Given the description of an element on the screen output the (x, y) to click on. 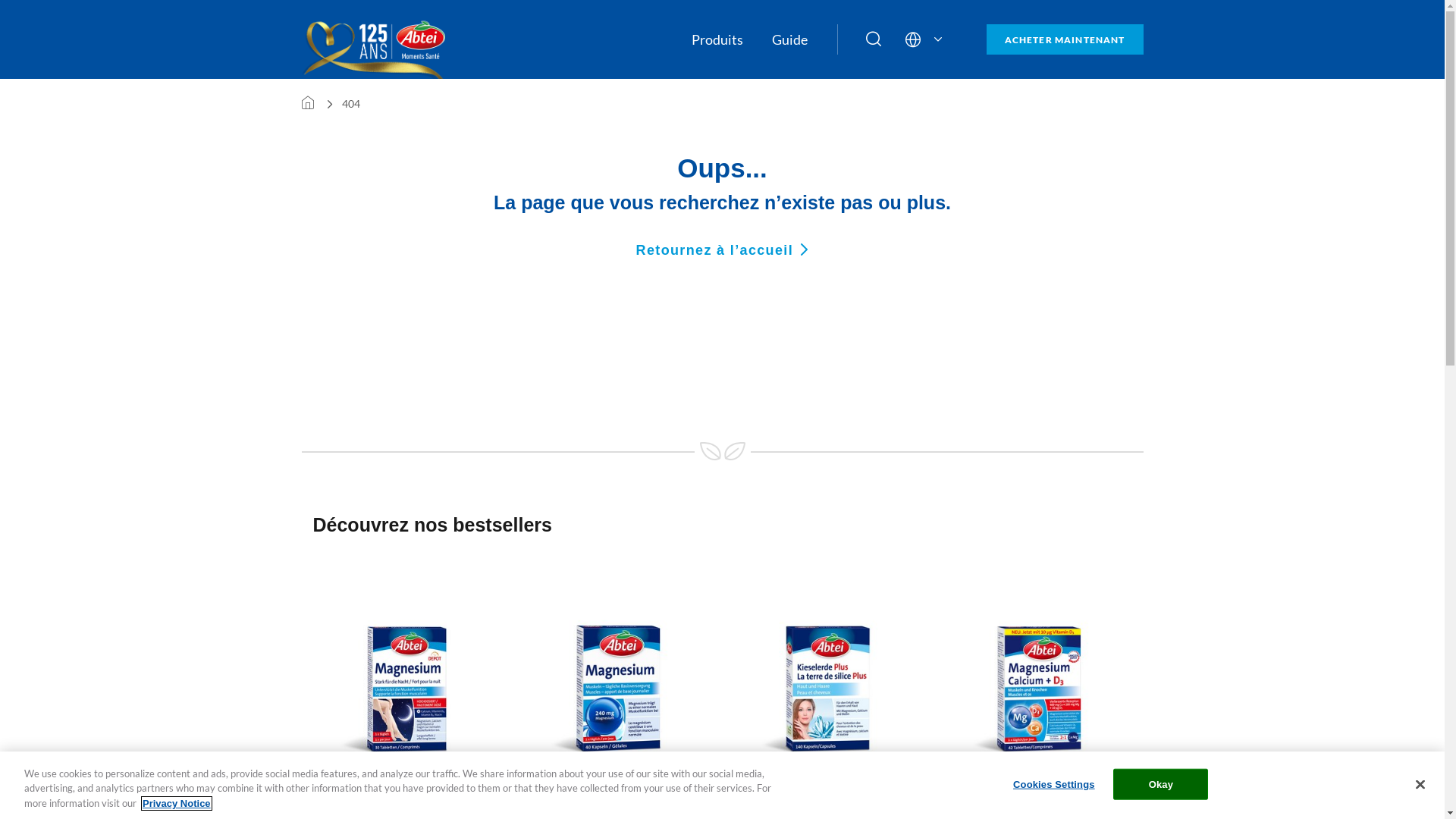
abtei-kieselerde-plus-kapseln Element type: hover (827, 688)
Abtei Element type: hover (378, 41)
Okay Element type: text (1160, 784)
Guide Element type: text (789, 38)
Cookies Settings Element type: text (1053, 783)
404 Element type: text (350, 103)
Privacy Notice Element type: text (176, 803)
Produits Element type: text (717, 38)
Startseite CH FR Element type: text (307, 103)
ACHETER MAINTENANT Element type: text (1064, 39)
abtei-magnesium-stark-fuer-die-nacht-tabletten-ch Element type: hover (407, 688)
abtei-magnesium-calcium-d3 Element type: hover (1038, 688)
abtei-magnesium-kapseln-240mg-ch Element type: hover (617, 688)
